Given the description of an element on the screen output the (x, y) to click on. 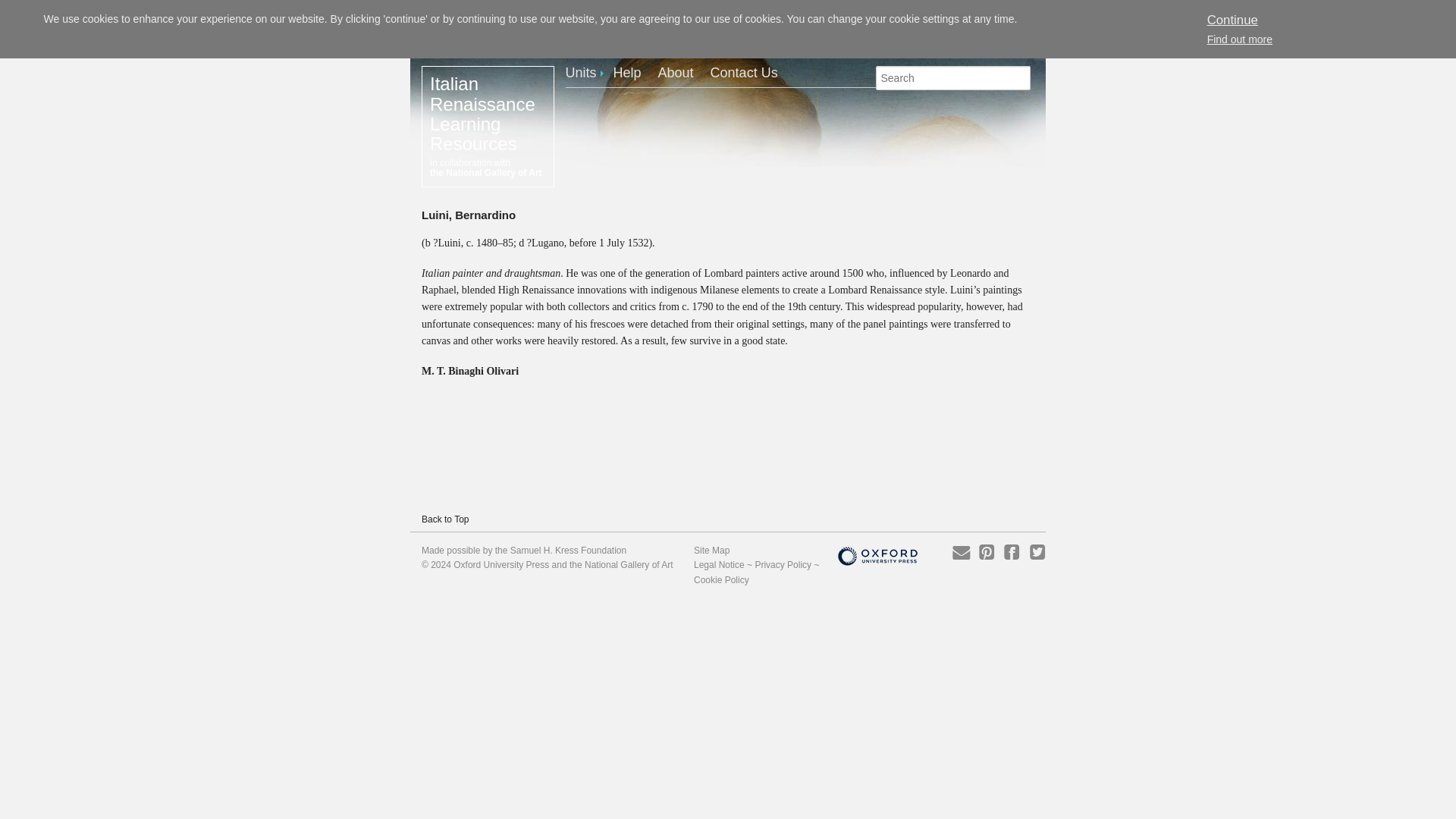
Italian Renaissance Learning Resources (482, 113)
Help (632, 72)
National Gallery of Art (628, 564)
Oxford University Press (500, 564)
Share on Pinterest (986, 551)
Search (21, 7)
Contact Us (750, 72)
Find out more (1239, 39)
Site Map (711, 550)
Privacy Policy (782, 564)
